Given the description of an element on the screen output the (x, y) to click on. 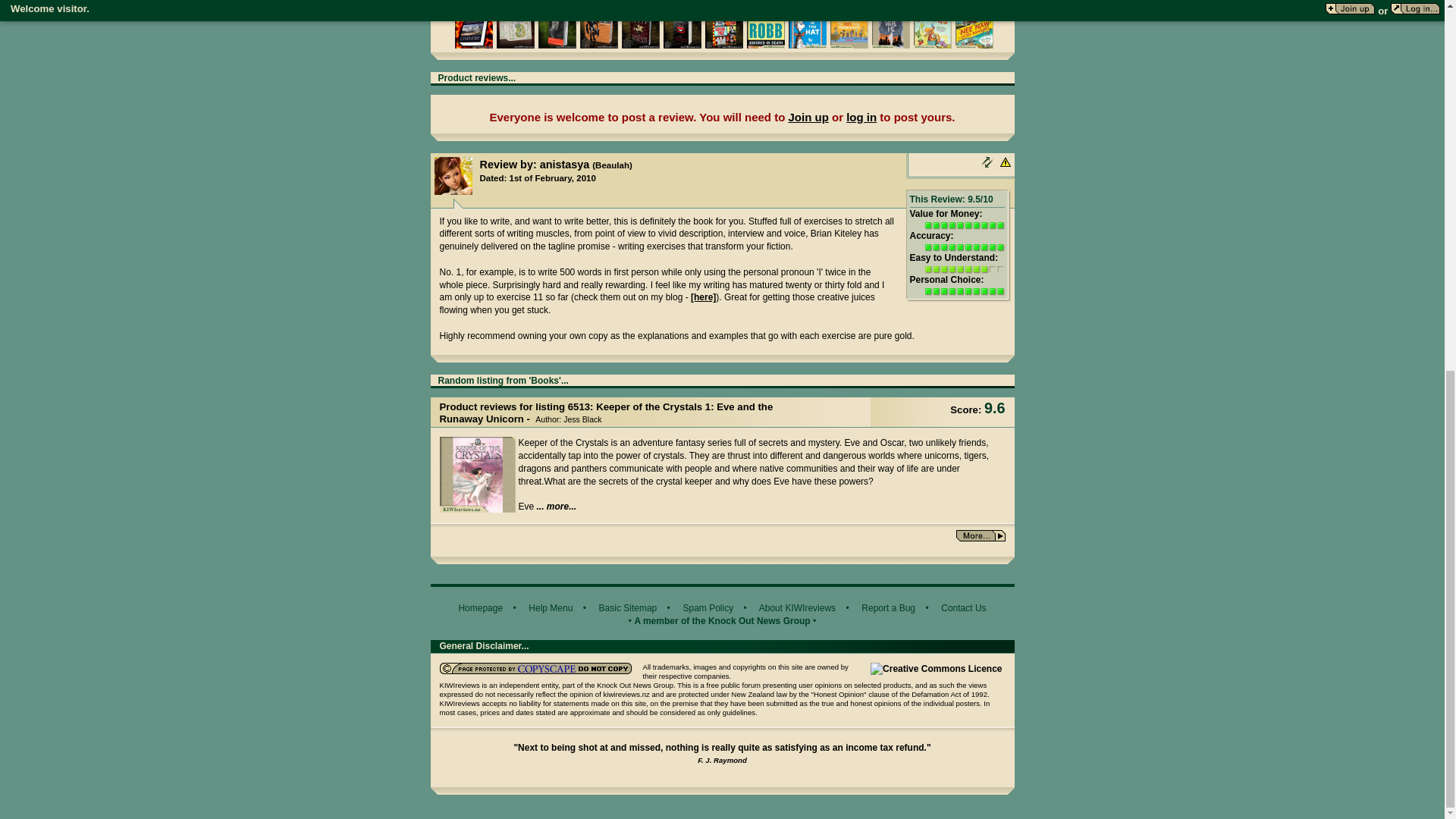
Chainfire (475, 29)
